Given the description of an element on the screen output the (x, y) to click on. 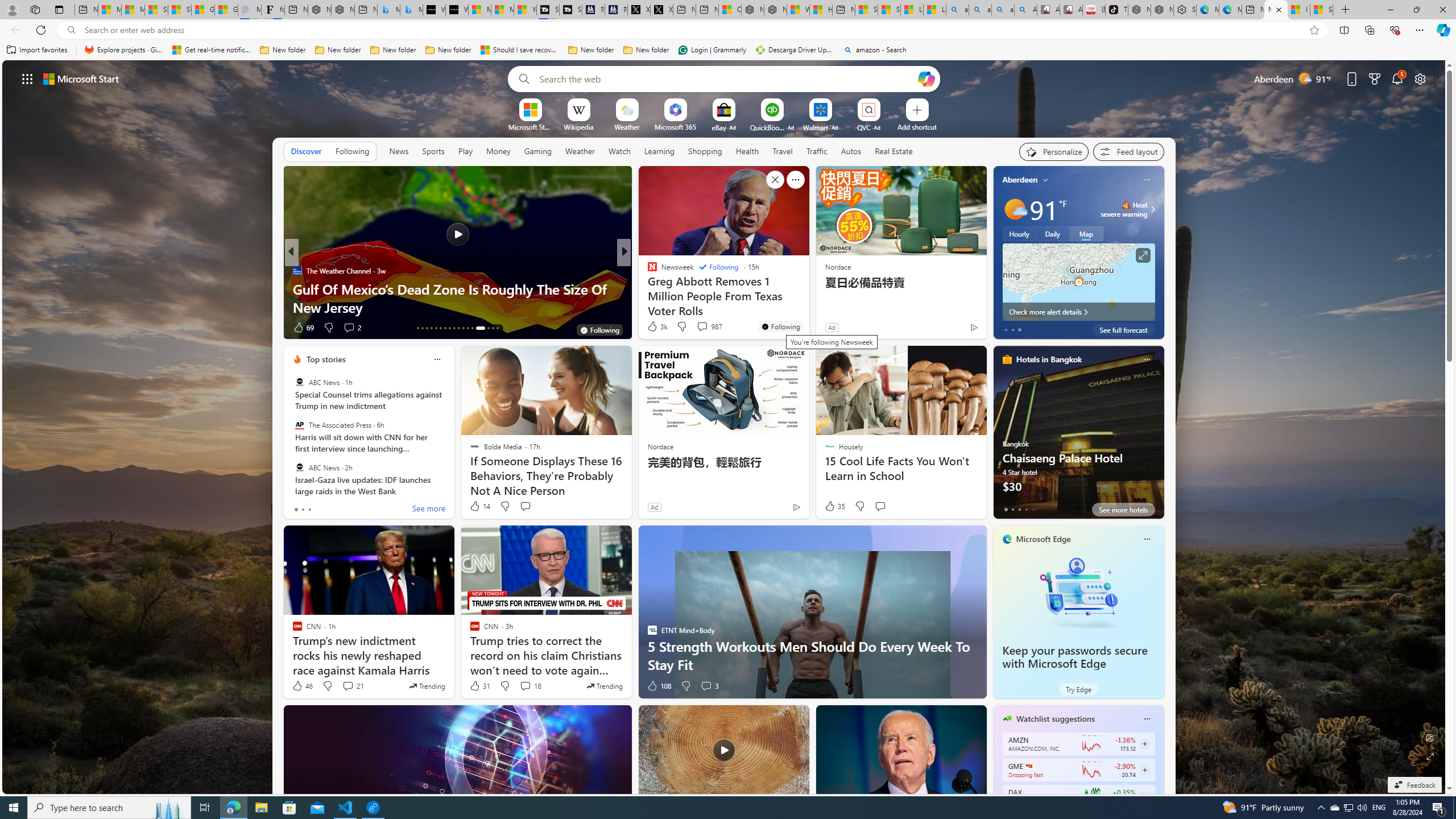
Descarga Driver Updater (794, 49)
Discover (306, 151)
AutomationID: tab-24 (467, 328)
Feedback (1414, 784)
tab-4 (1032, 509)
Expand background (1430, 756)
Start the conversation (880, 505)
Should I save recovered Word documents? - Microsoft Support (519, 49)
Play (465, 151)
Import favorites (36, 49)
46 Like (301, 685)
